Given the description of an element on the screen output the (x, y) to click on. 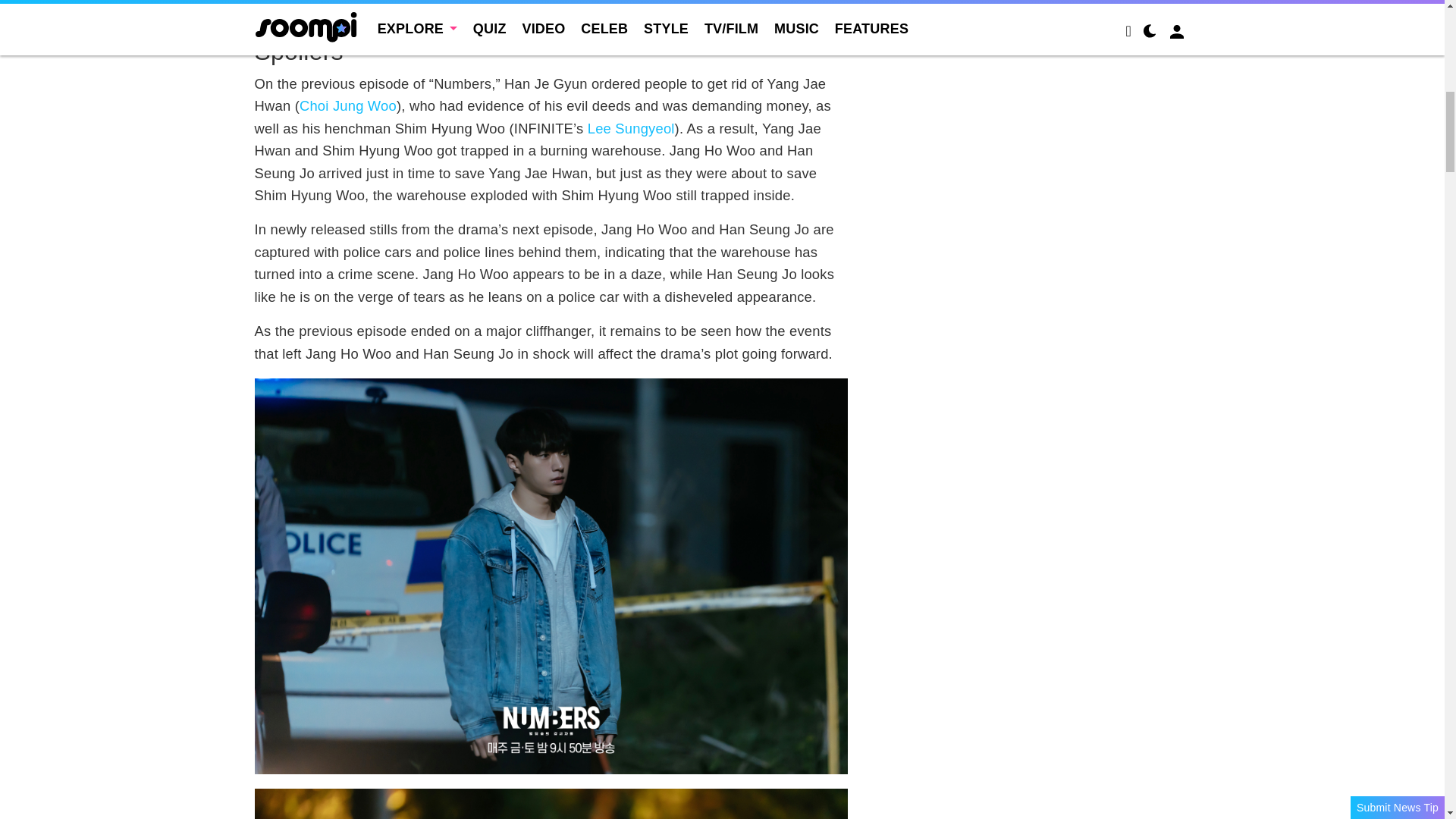
Choi Min Soo (599, 13)
Choi Jung Woo (347, 105)
Lee Sungyeol (631, 128)
